Given the description of an element on the screen output the (x, y) to click on. 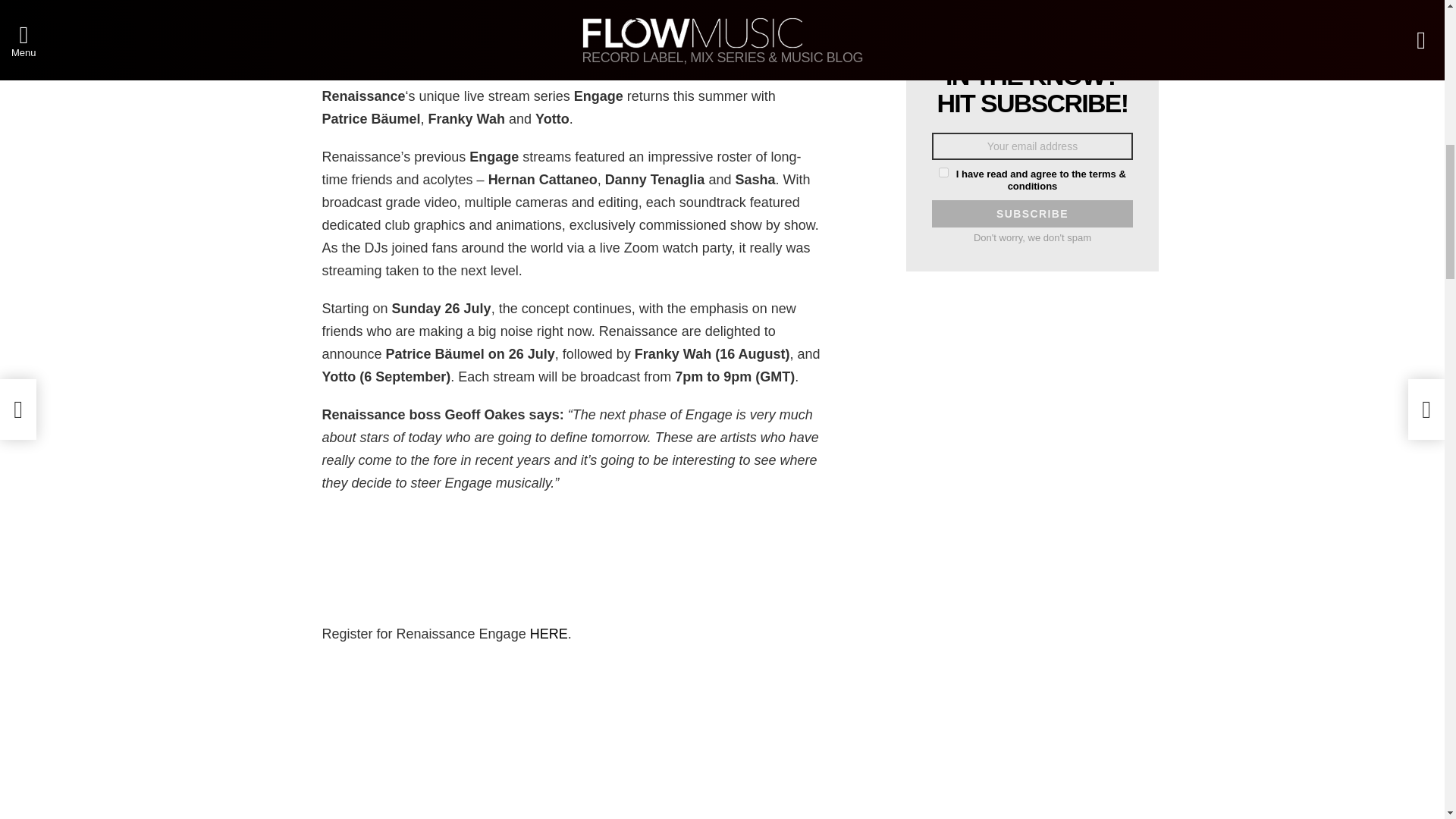
1 (944, 172)
23 July 2020, 2:19 pm (314, 7)
SUBSCRIBE (1031, 213)
